Given the description of an element on the screen output the (x, y) to click on. 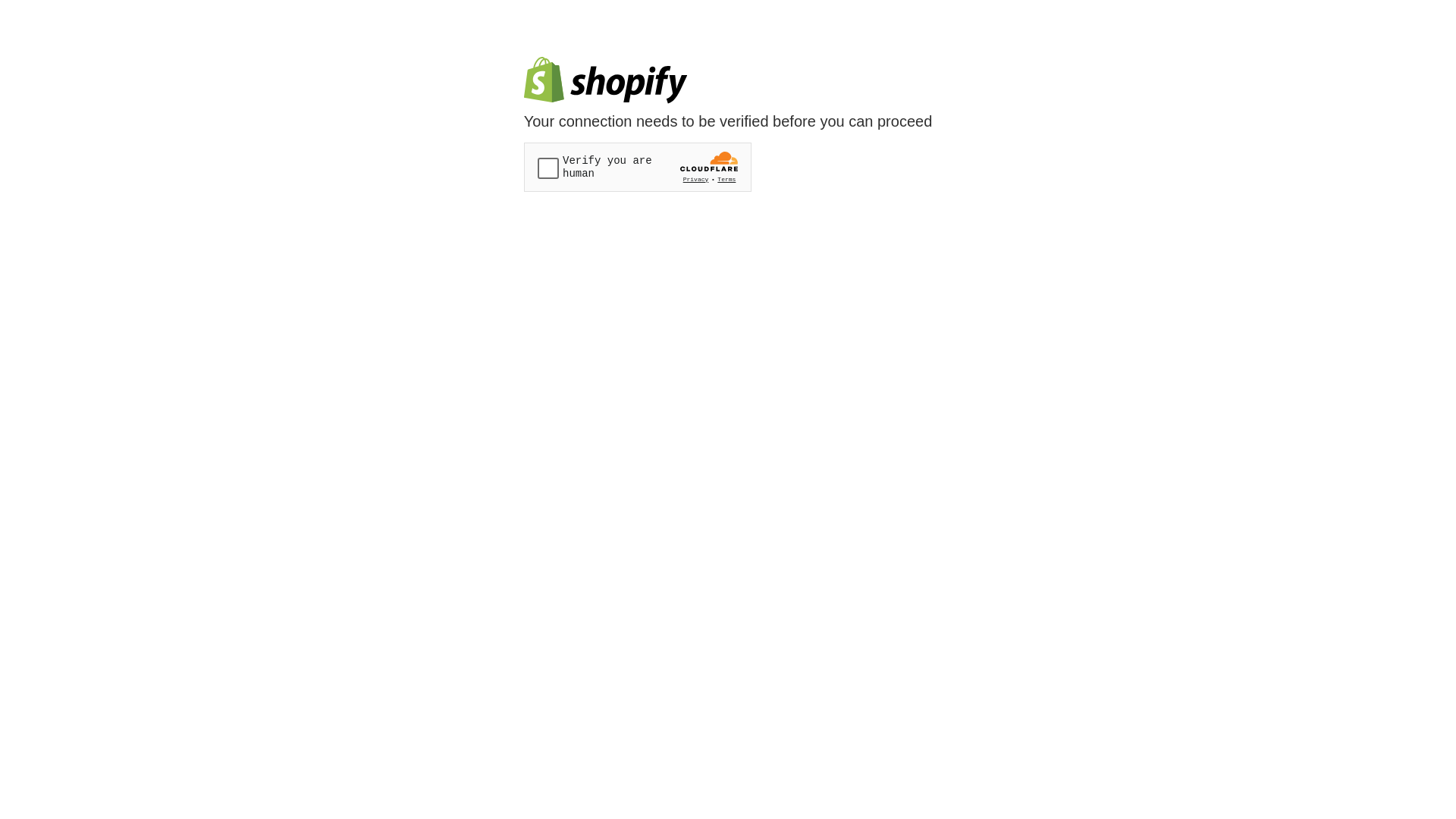
Widget containing a Cloudflare security challenge Element type: hover (637, 166)
